Given the description of an element on the screen output the (x, y) to click on. 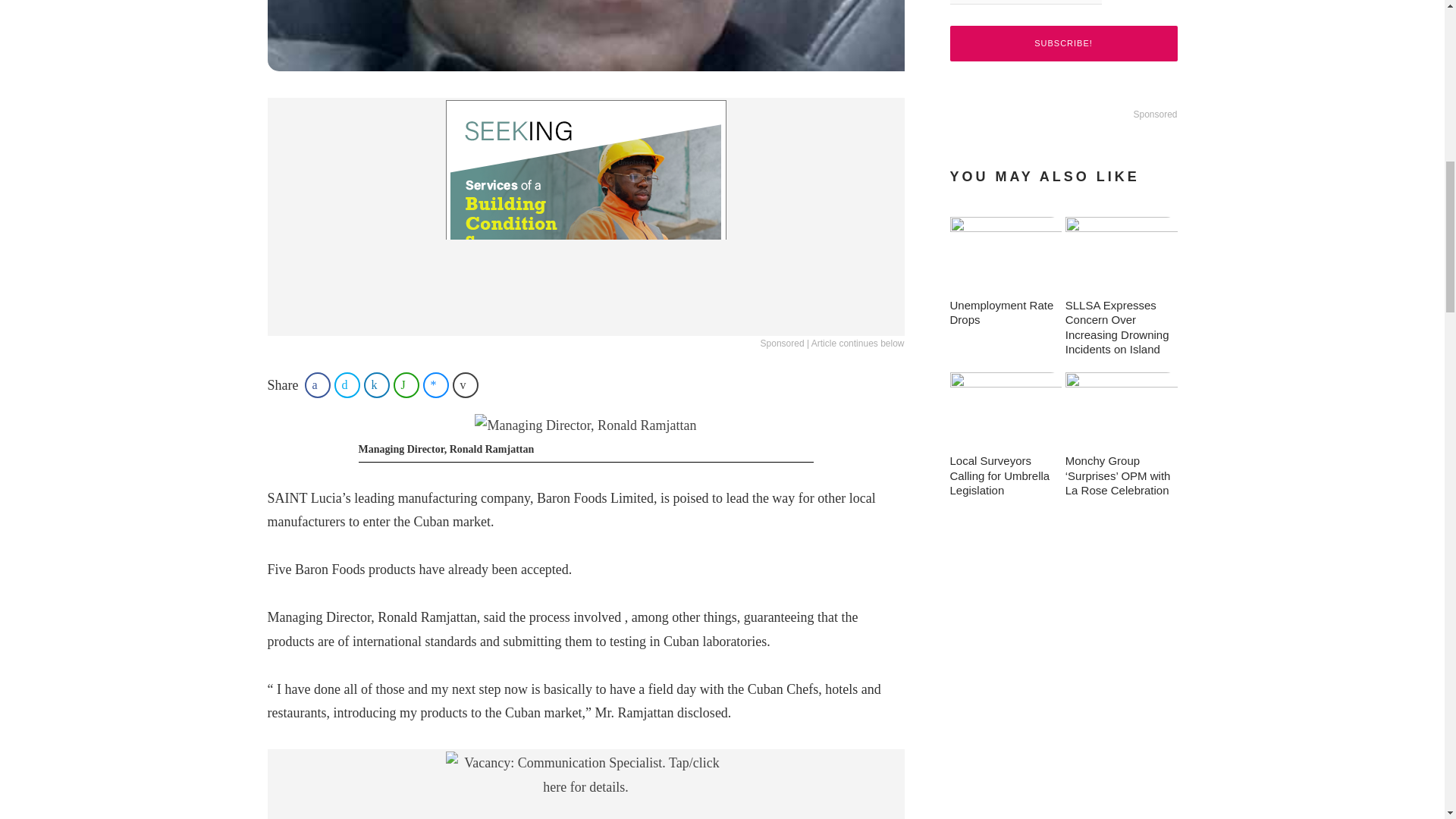
Subscribe! (1062, 43)
Share on LinkedIn (377, 385)
Share on Email (465, 385)
Share on Facebook (317, 385)
Share on Twitter (346, 385)
Share on WhatsApp (406, 385)
Share on Facebook Messenger (435, 385)
Email (1024, 2)
